Given the description of an element on the screen output the (x, y) to click on. 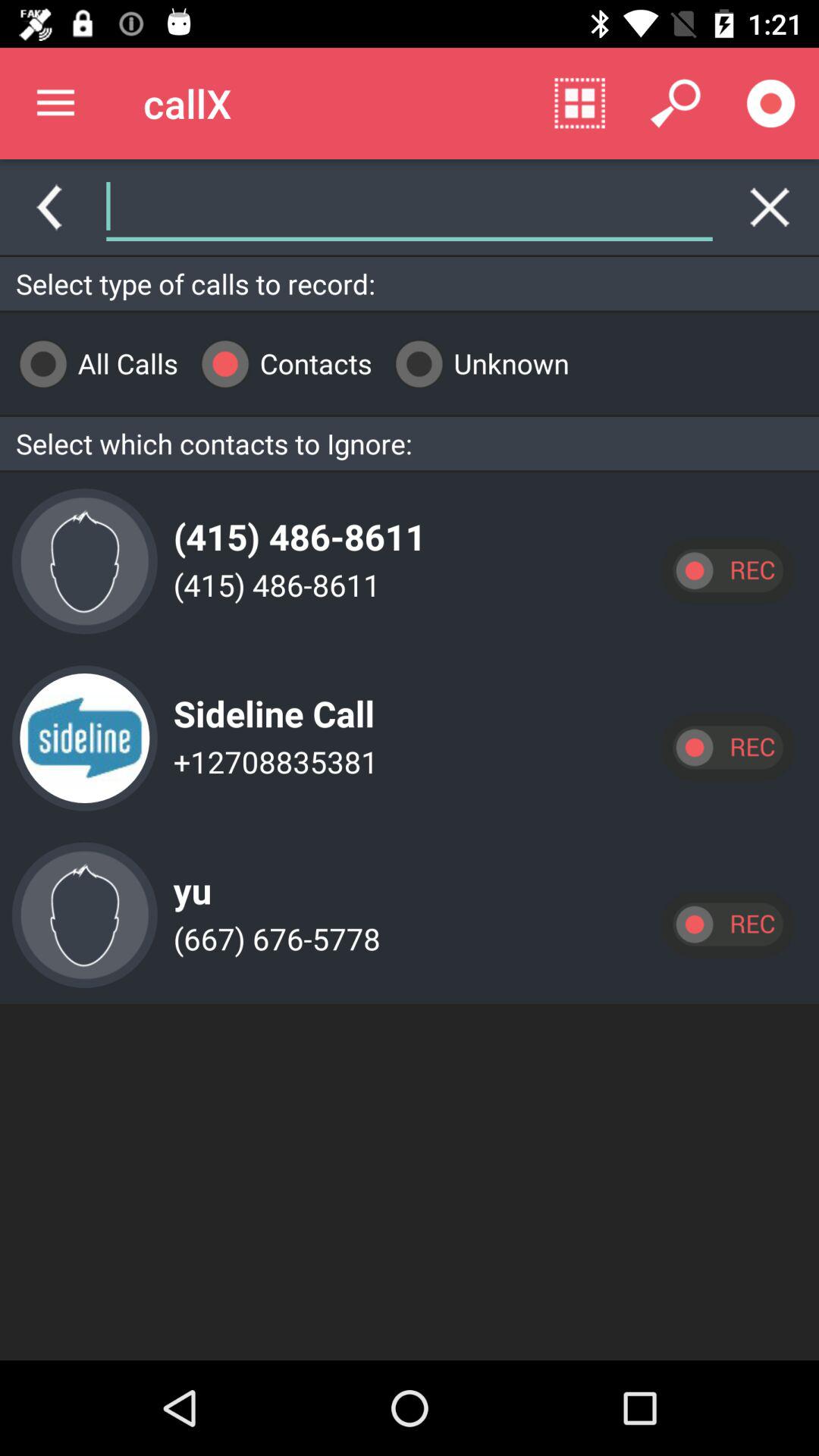
jump until sideline call item (269, 701)
